Given the description of an element on the screen output the (x, y) to click on. 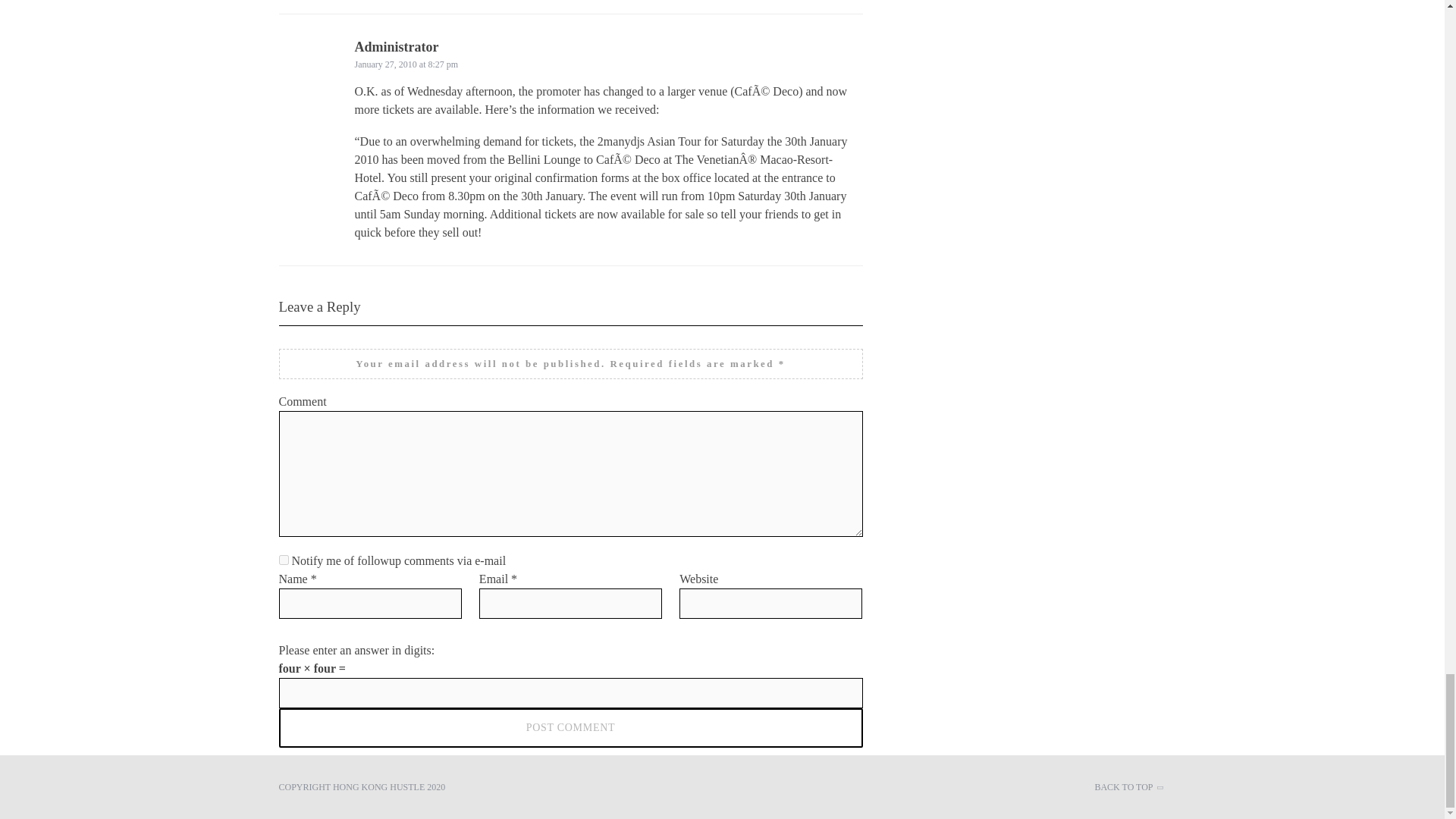
Post Comment (571, 727)
subscribe (283, 560)
